Given the description of an element on the screen output the (x, y) to click on. 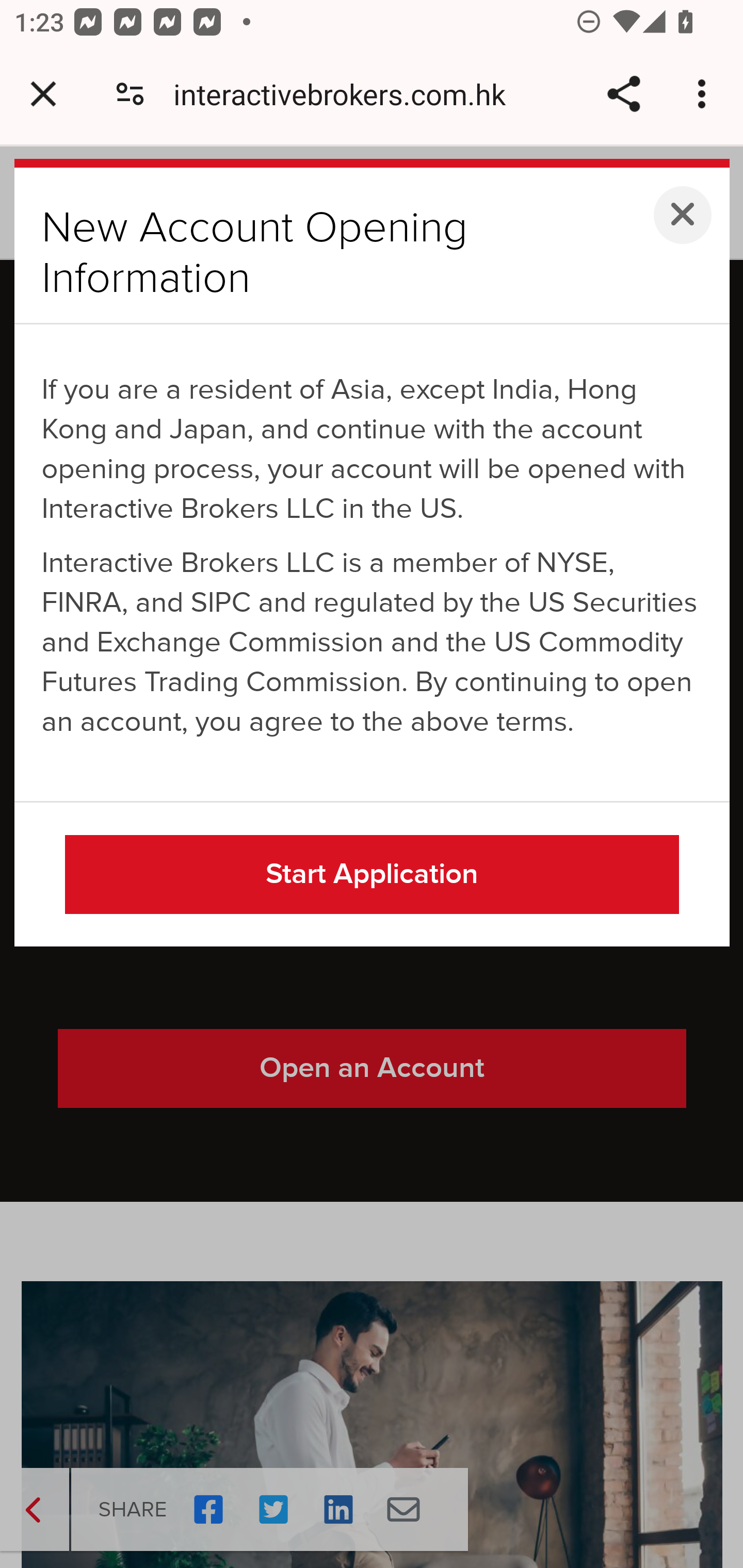
Close tab (43, 93)
Share (623, 93)
Customize and control Google Chrome (705, 93)
Connection is secure (129, 93)
interactivebrokers.com.hk (346, 93)
Close (683, 214)
Start Application (372, 874)
